Given the description of an element on the screen output the (x, y) to click on. 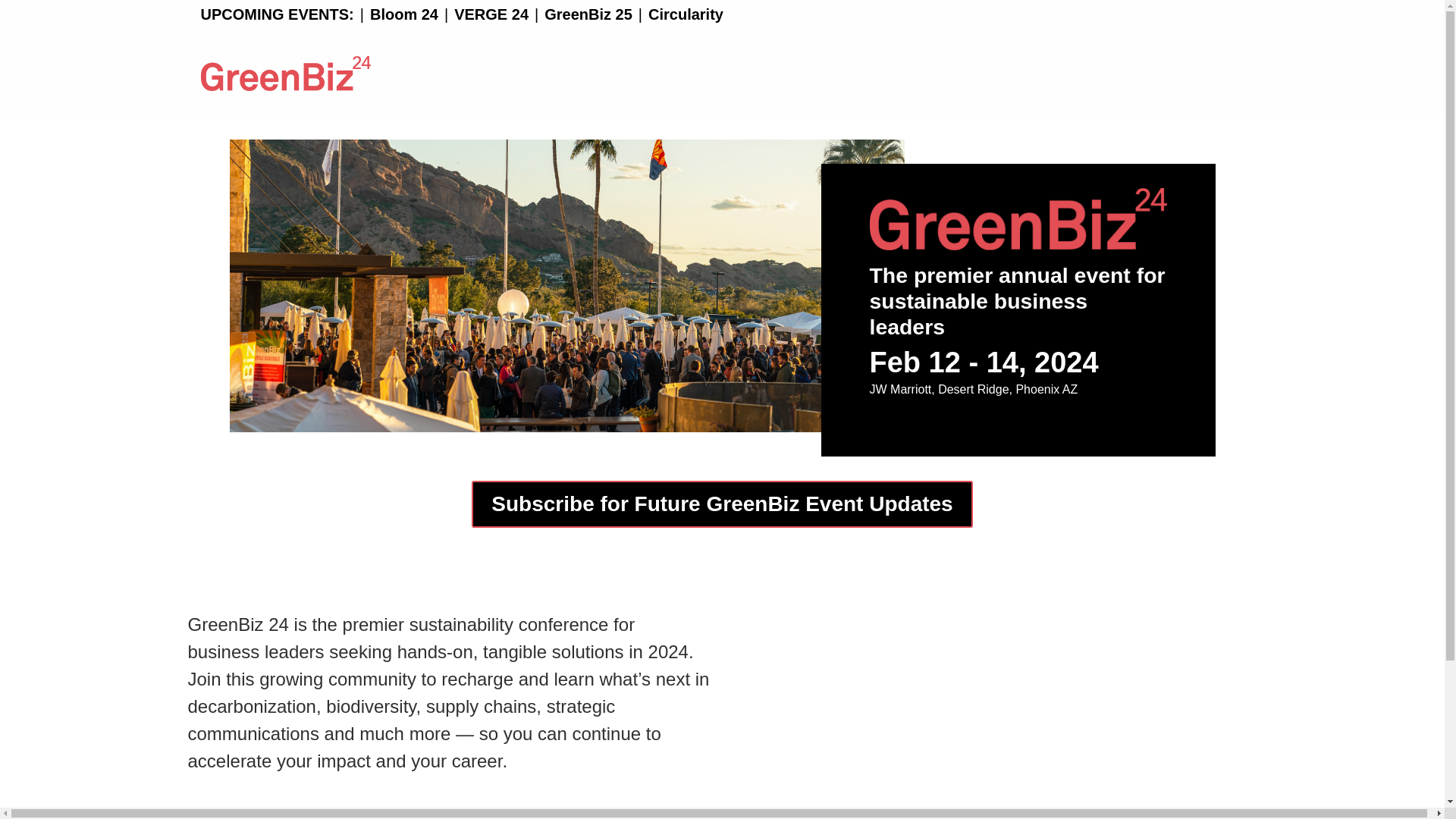
More (1217, 73)
Who Attends (1108, 73)
Sponsor (997, 73)
Keynote Livestream (641, 73)
VERGE 24 (491, 14)
Subscribe for Future GreenBiz Event Updates (721, 503)
UPCOMING EVENTS: (276, 14)
GreenBiz 24 (994, 721)
Speakers (896, 73)
